Given the description of an element on the screen output the (x, y) to click on. 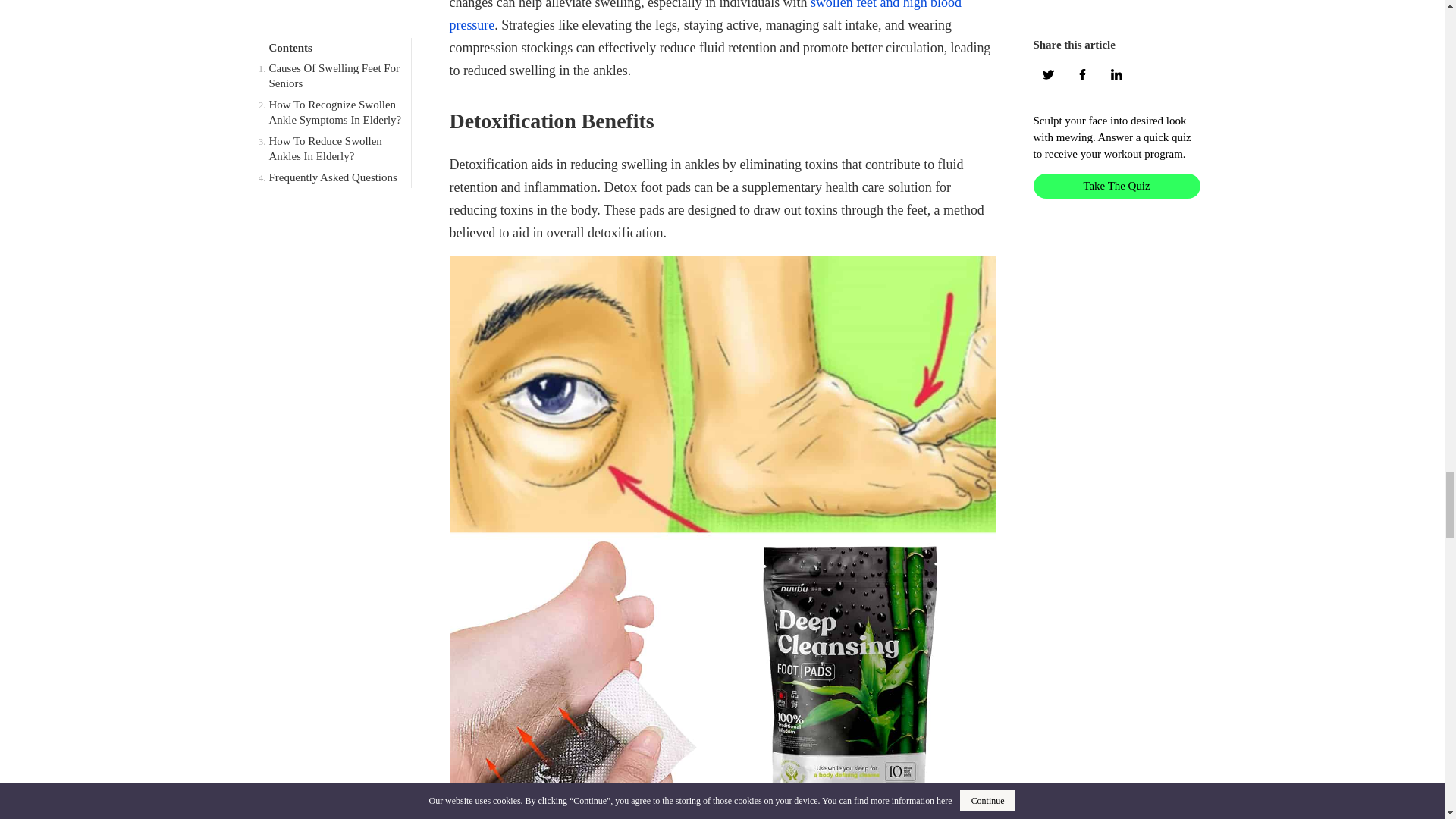
swollen feet and high blood pressure (704, 16)
